Given the description of an element on the screen output the (x, y) to click on. 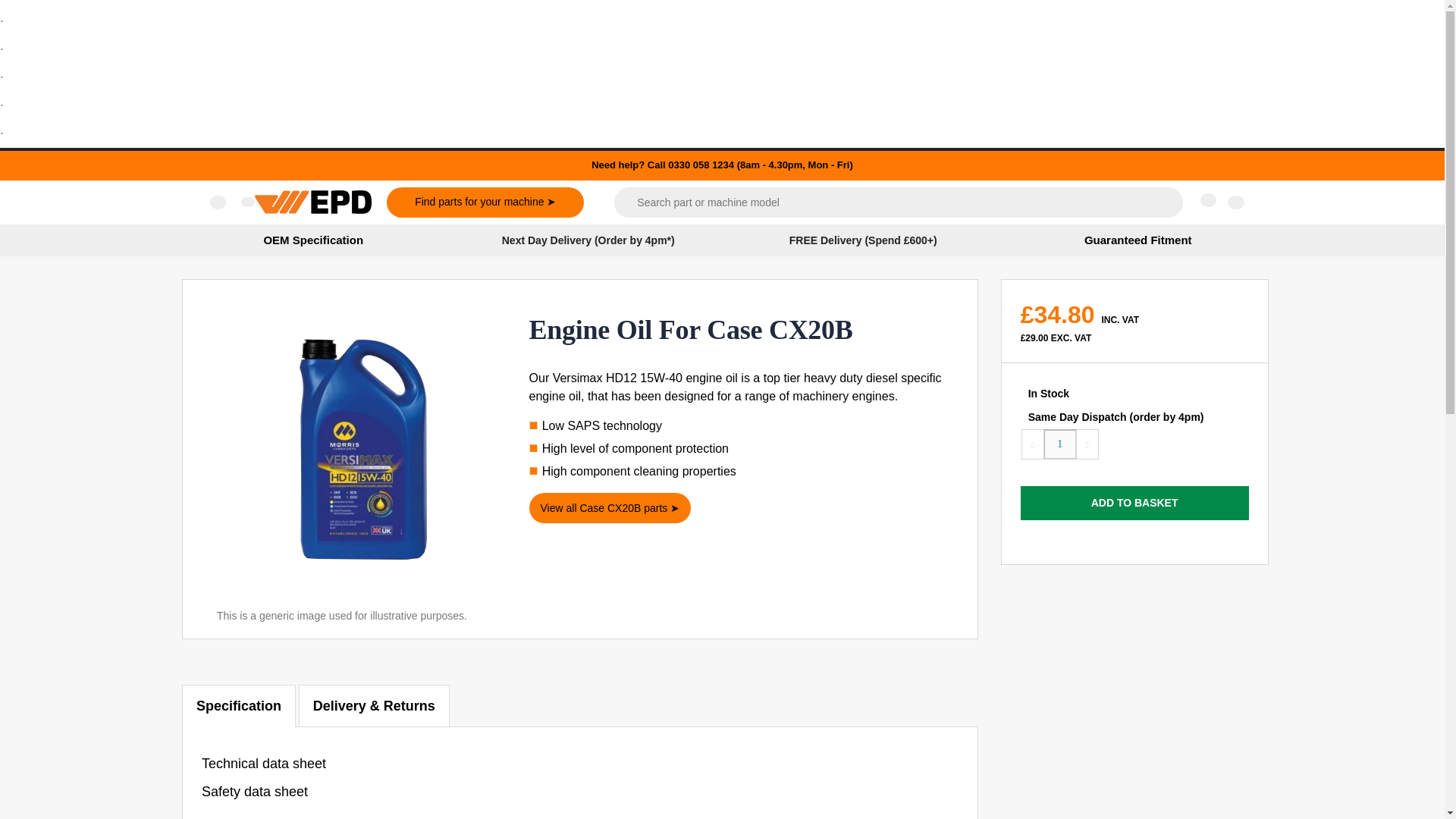
1 (1060, 444)
